Given the description of an element on the screen output the (x, y) to click on. 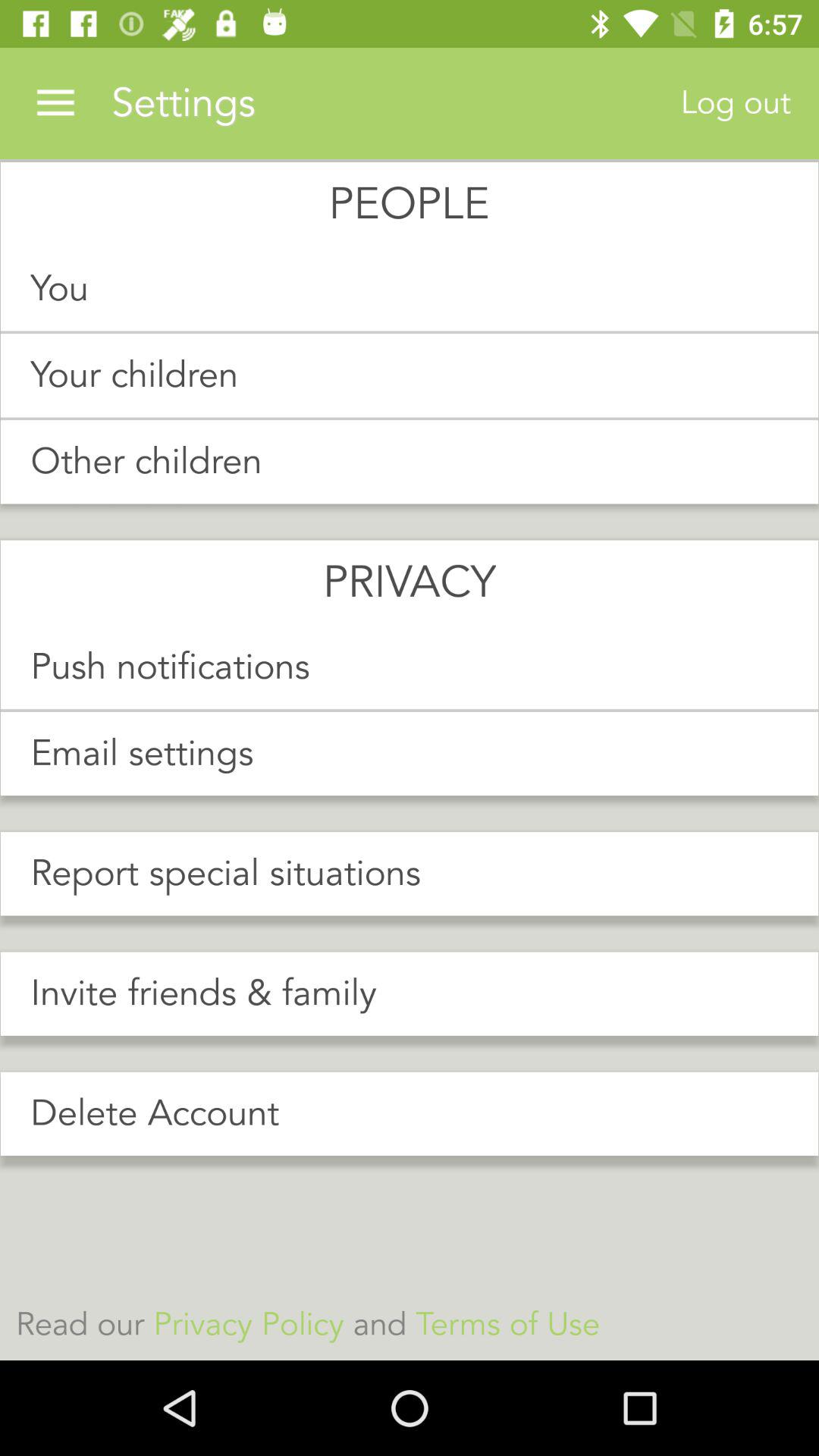
select the icon above the you item (55, 103)
